Given the description of an element on the screen output the (x, y) to click on. 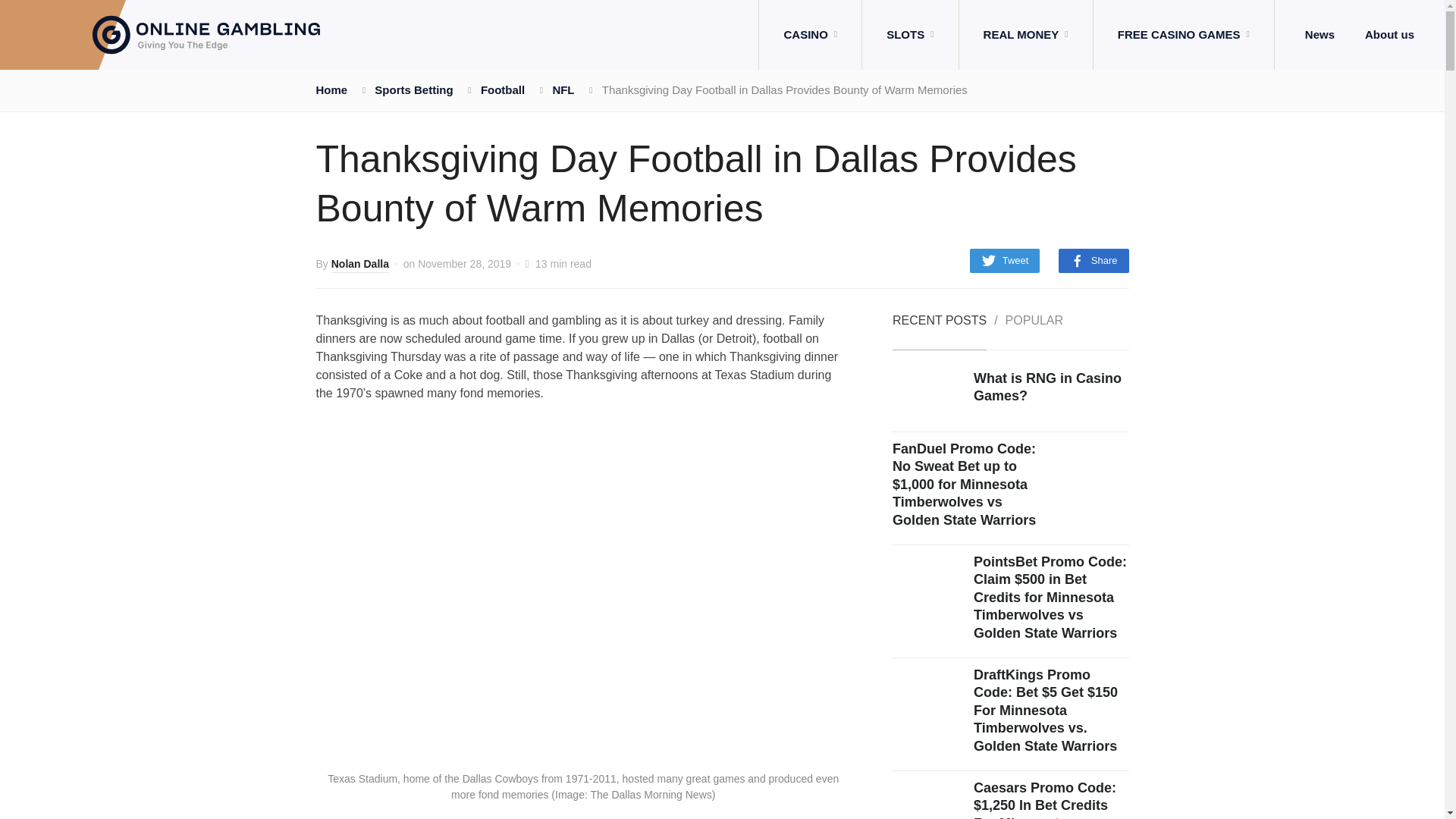
Posts by Nolan Dalla (359, 264)
Tweet this on Twitter (1005, 260)
Share this on Facebook (1093, 260)
Recent Posts (939, 331)
CASINO (809, 34)
Popular (1034, 331)
